Given the description of an element on the screen output the (x, y) to click on. 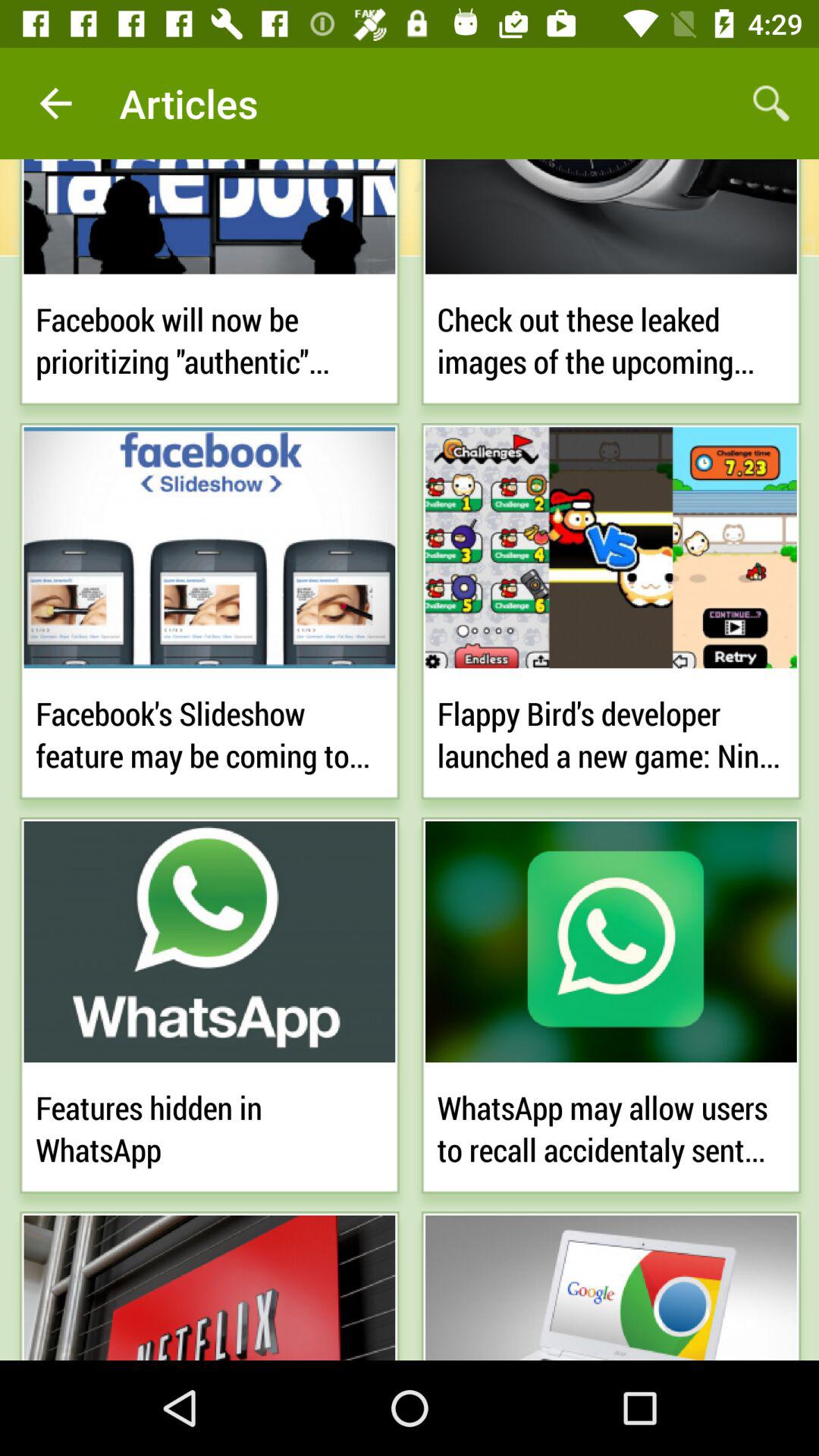
swipe until whatsapp may allow icon (610, 1125)
